Given the description of an element on the screen output the (x, y) to click on. 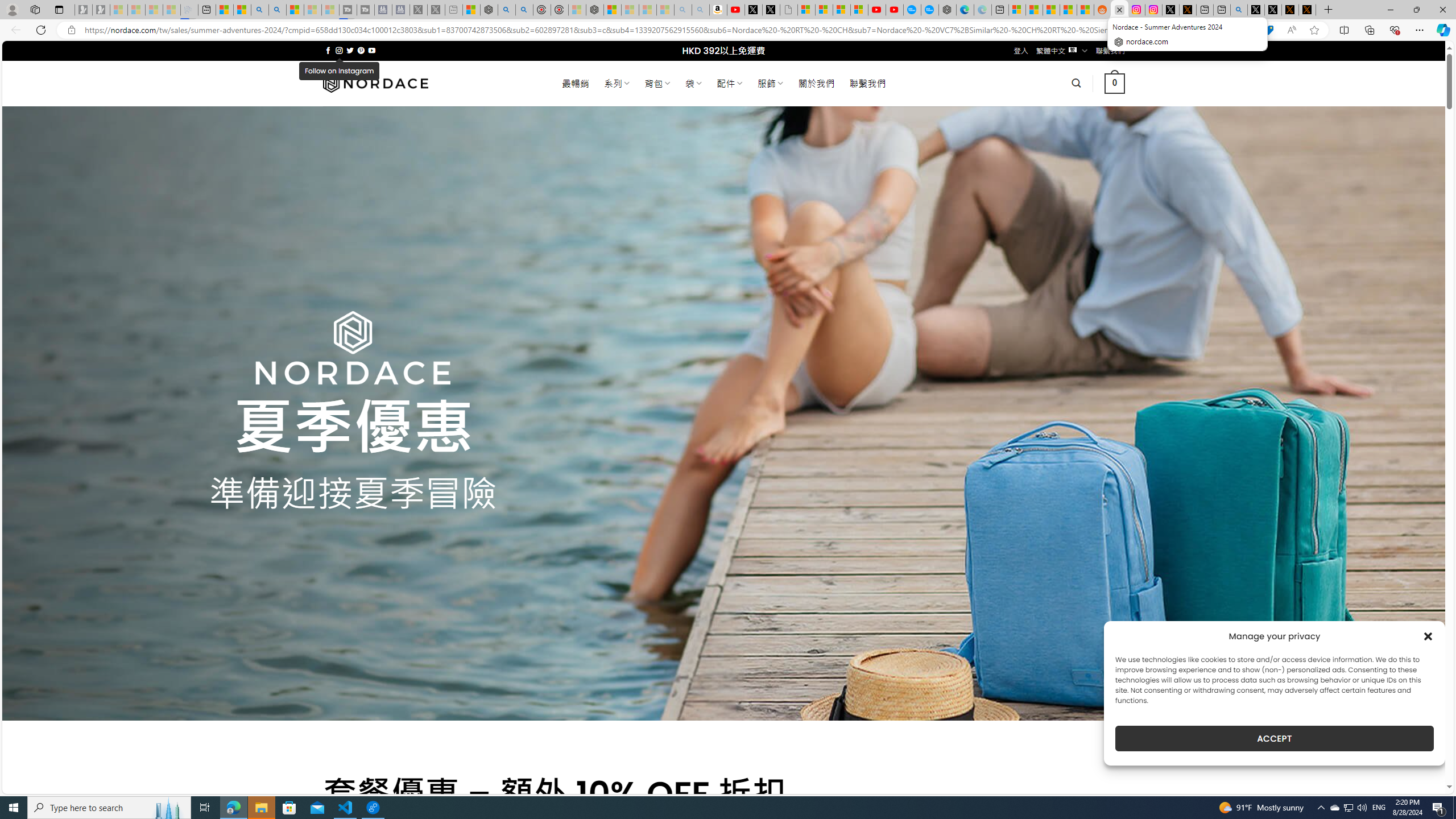
X - Sleeping (435, 9)
Class: cmplz-close (1428, 636)
YouTube Kids - An App Created for Kids to Explore Content (894, 9)
New Tab (1328, 9)
Shanghai, China hourly forecast | Microsoft Weather (1051, 9)
Collections (1369, 29)
amazon - Search - Sleeping (683, 9)
Refresh (40, 29)
